Given the description of an element on the screen output the (x, y) to click on. 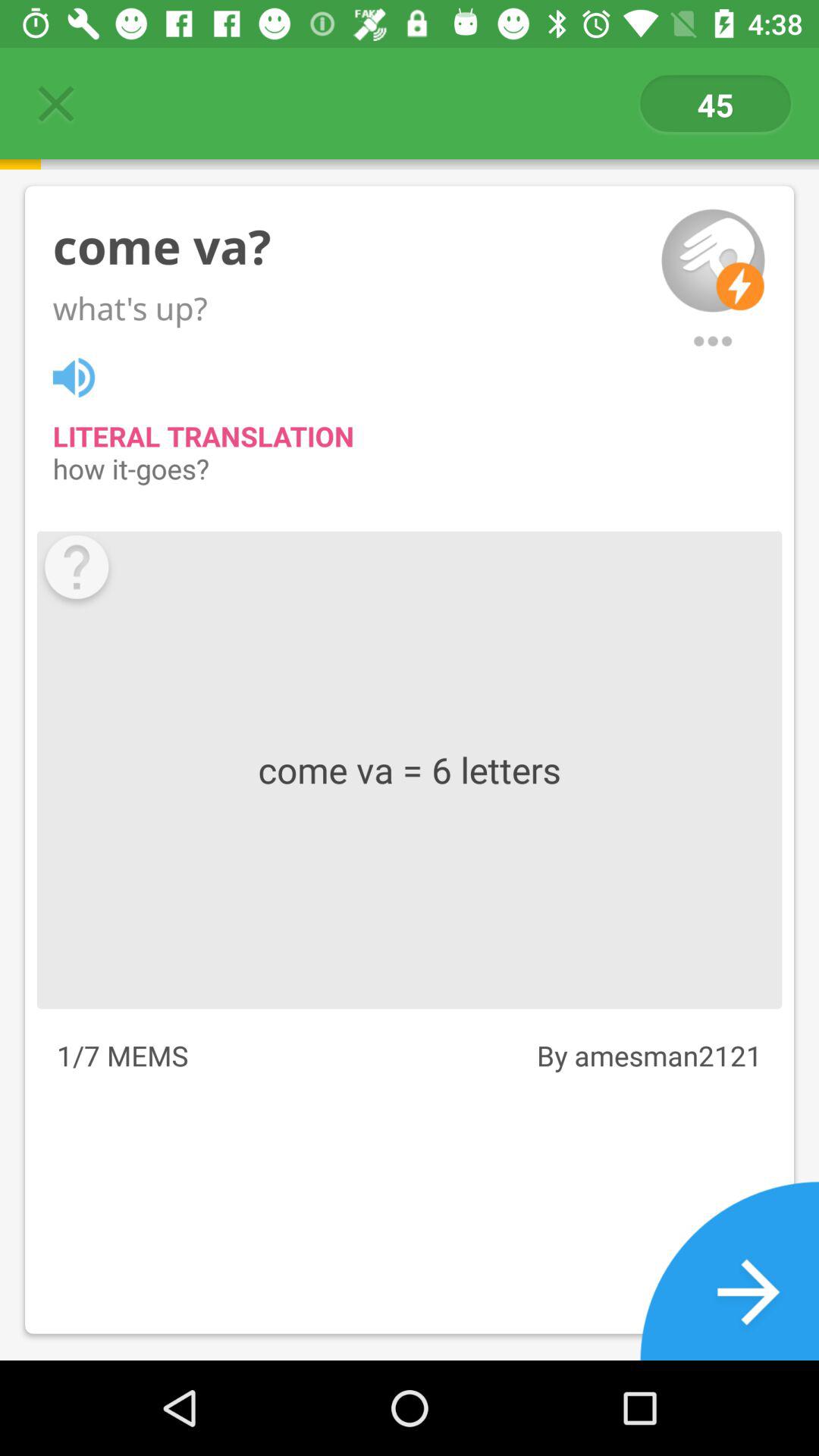
listen to audio (81, 375)
